Given the description of an element on the screen output the (x, y) to click on. 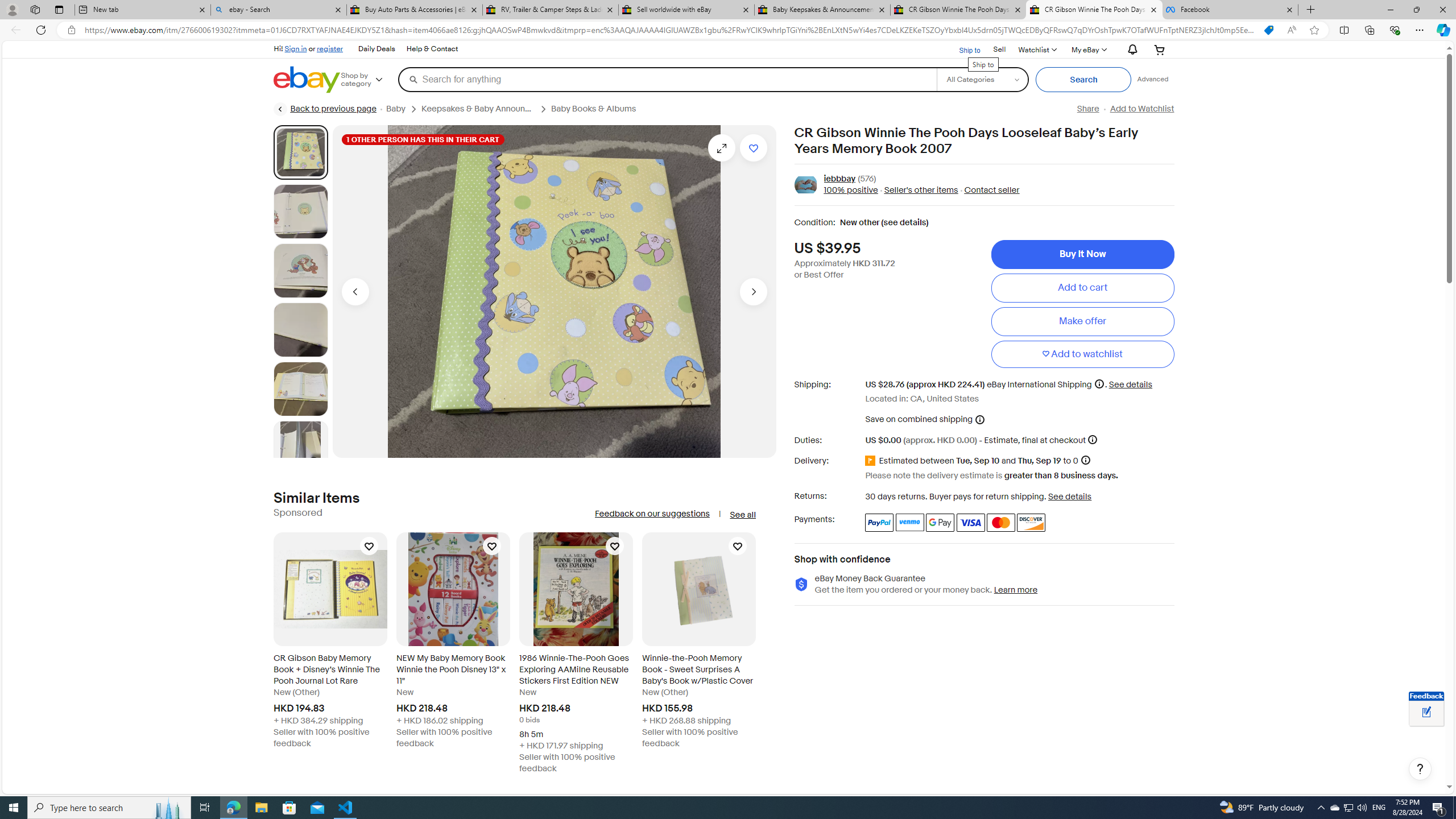
AutomationID: gh-shipto-click (962, 48)
